Given the description of an element on the screen output the (x, y) to click on. 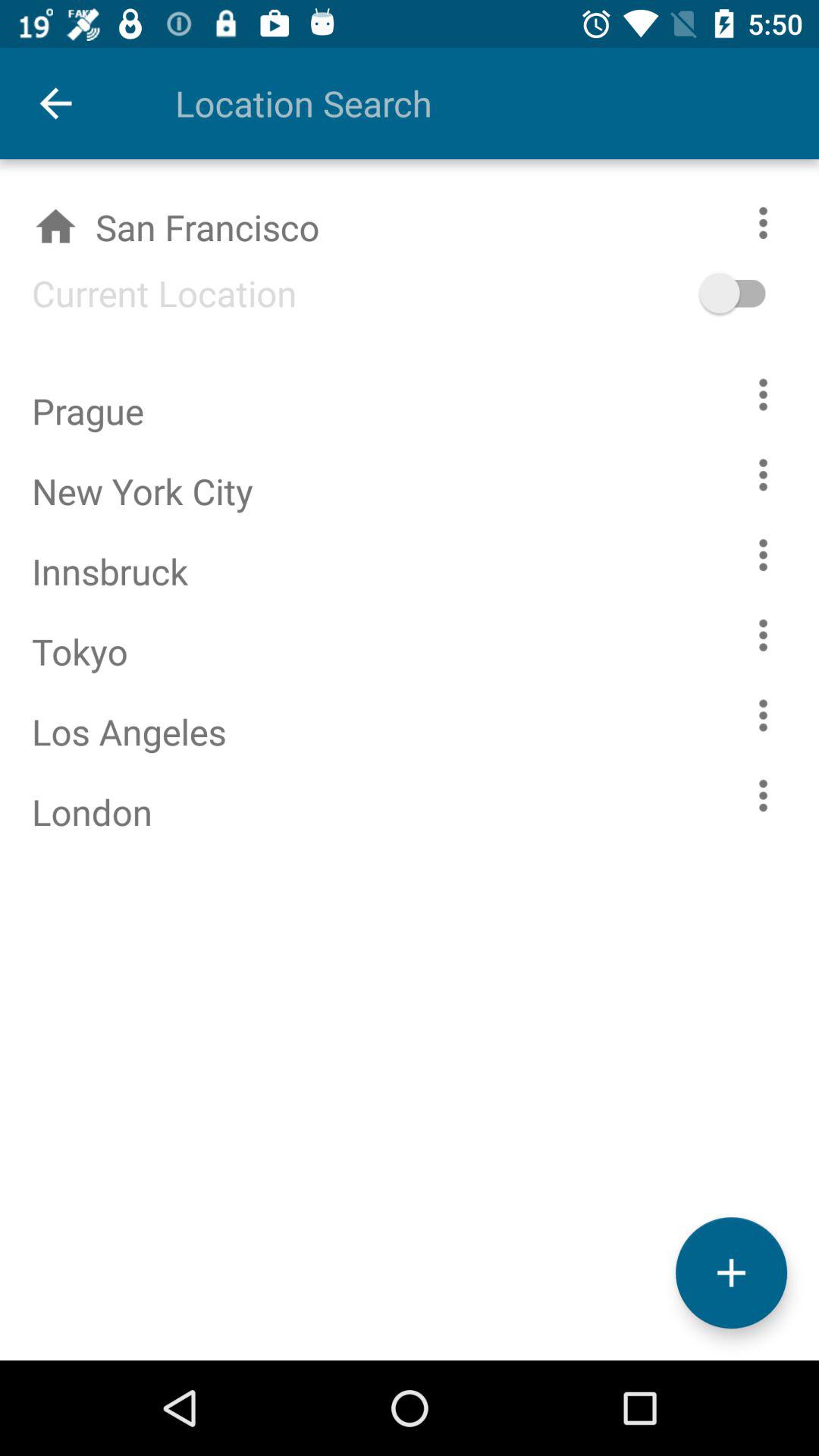
opions (763, 635)
